Given the description of an element on the screen output the (x, y) to click on. 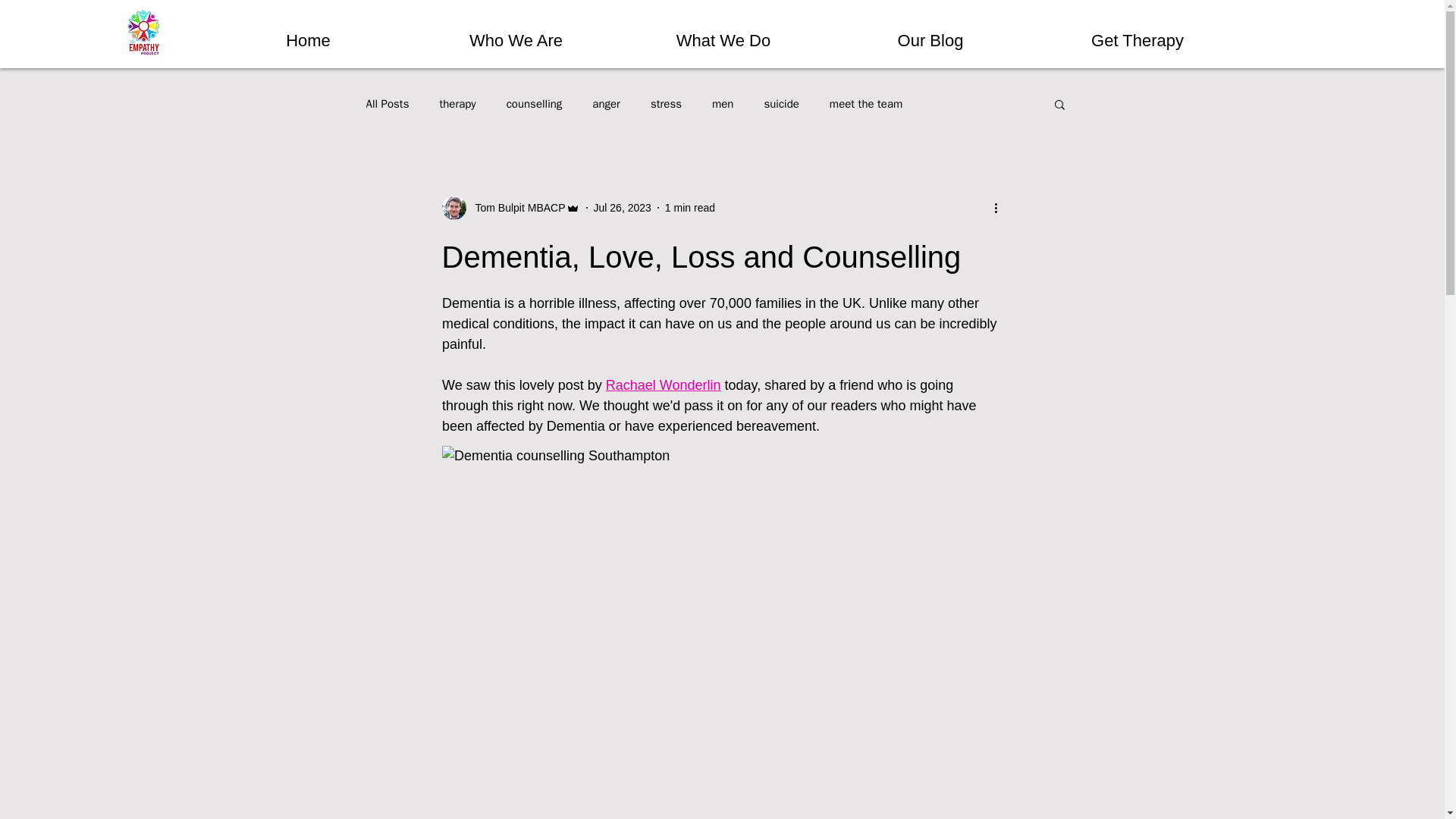
All Posts (387, 104)
What We Do (723, 33)
Rachael Wonderlin (662, 385)
meet the team (865, 104)
anger (606, 104)
men (722, 104)
Who We Are (516, 33)
Tom Bulpit MBACP (514, 207)
counselling (534, 104)
Get Therapy (1137, 33)
